Given the description of an element on the screen output the (x, y) to click on. 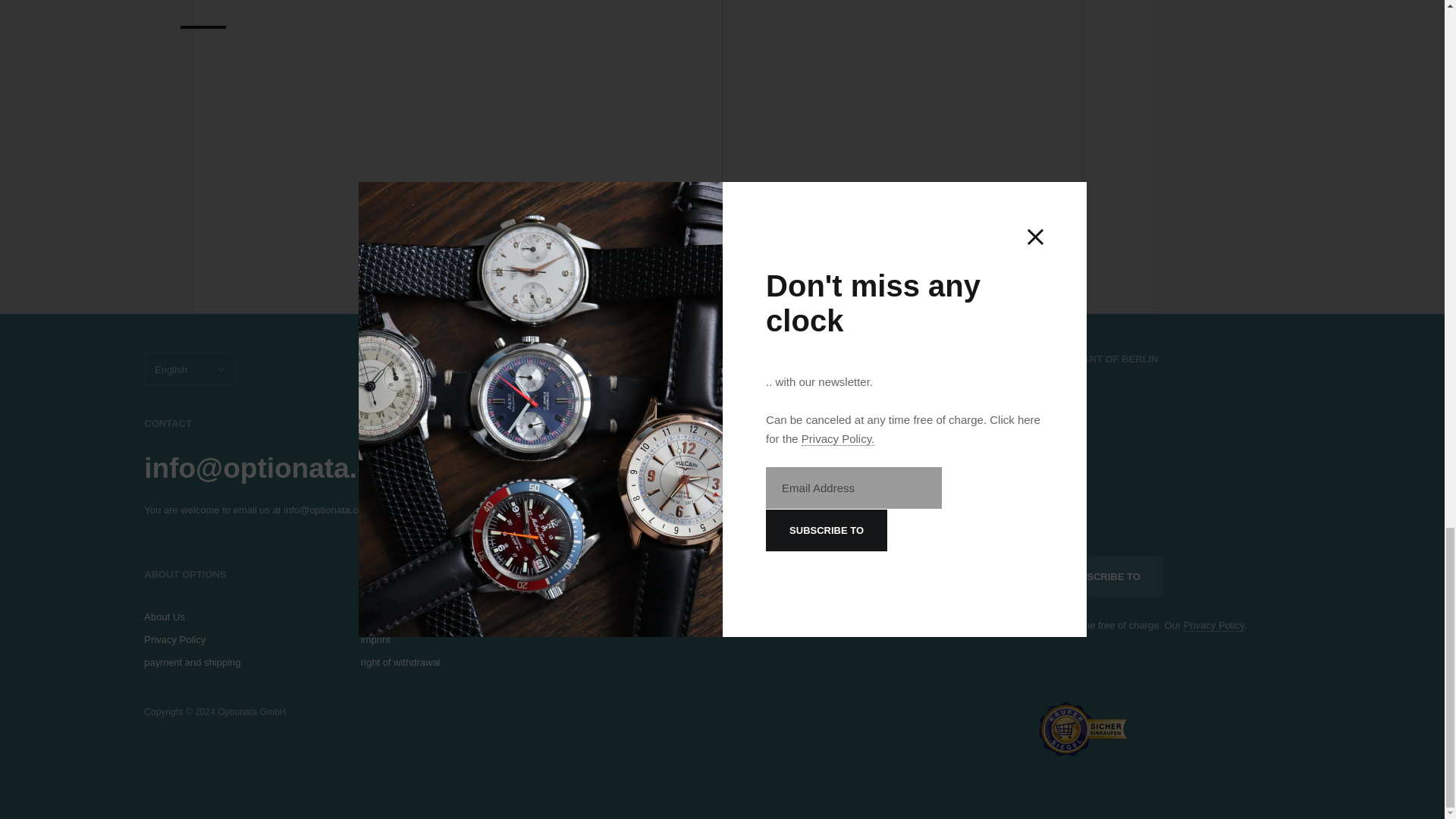
Subscribe to (1102, 576)
